Given the description of an element on the screen output the (x, y) to click on. 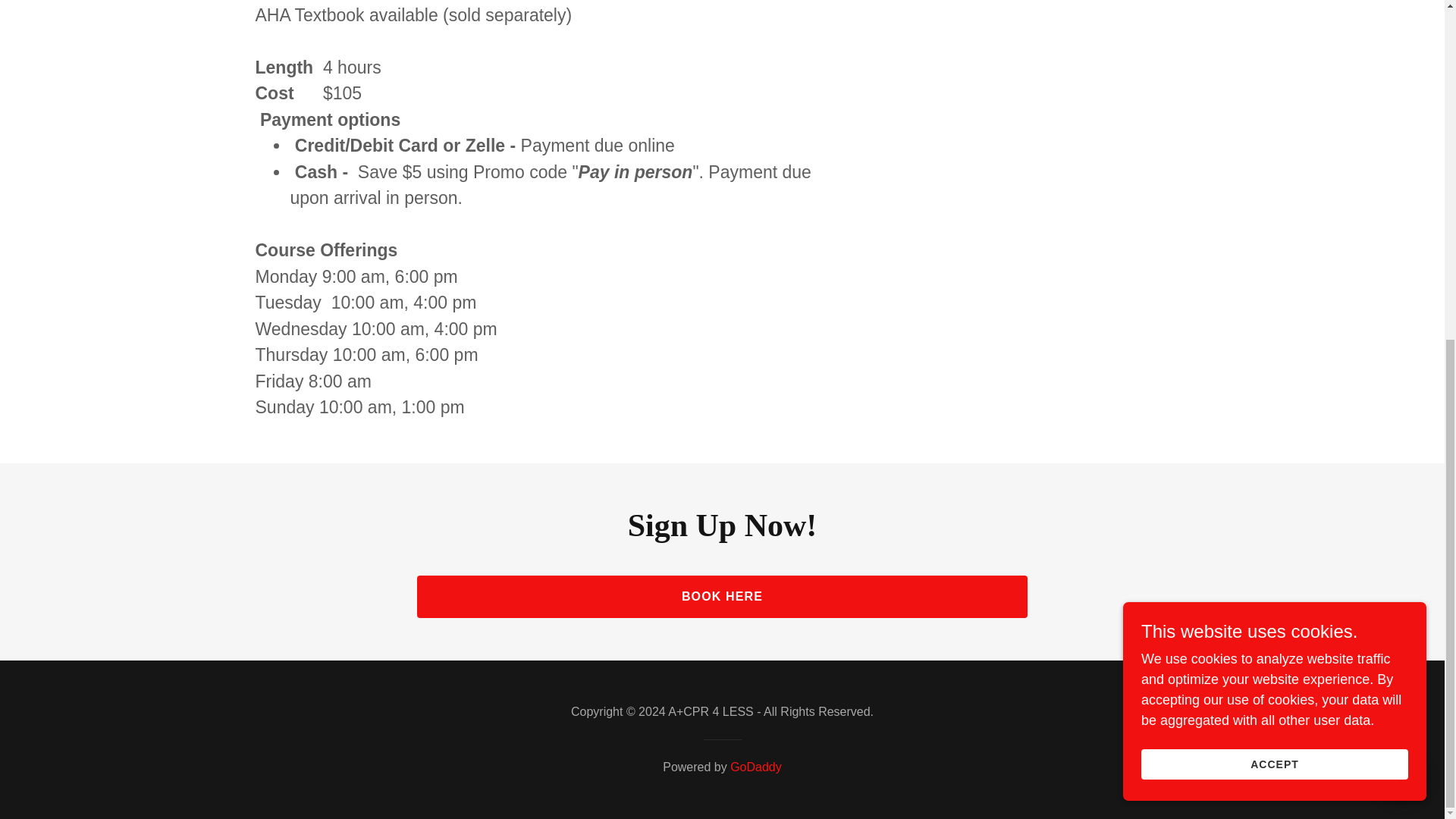
GoDaddy (755, 766)
ACCEPT (1274, 188)
BOOK HERE (721, 596)
